Given the description of an element on the screen output the (x, y) to click on. 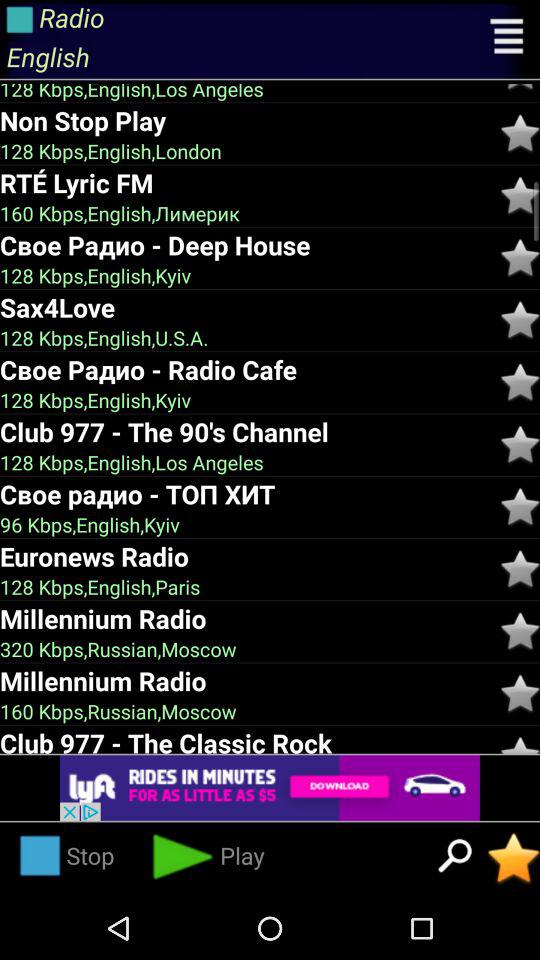
open menu (508, 39)
